Given the description of an element on the screen output the (x, y) to click on. 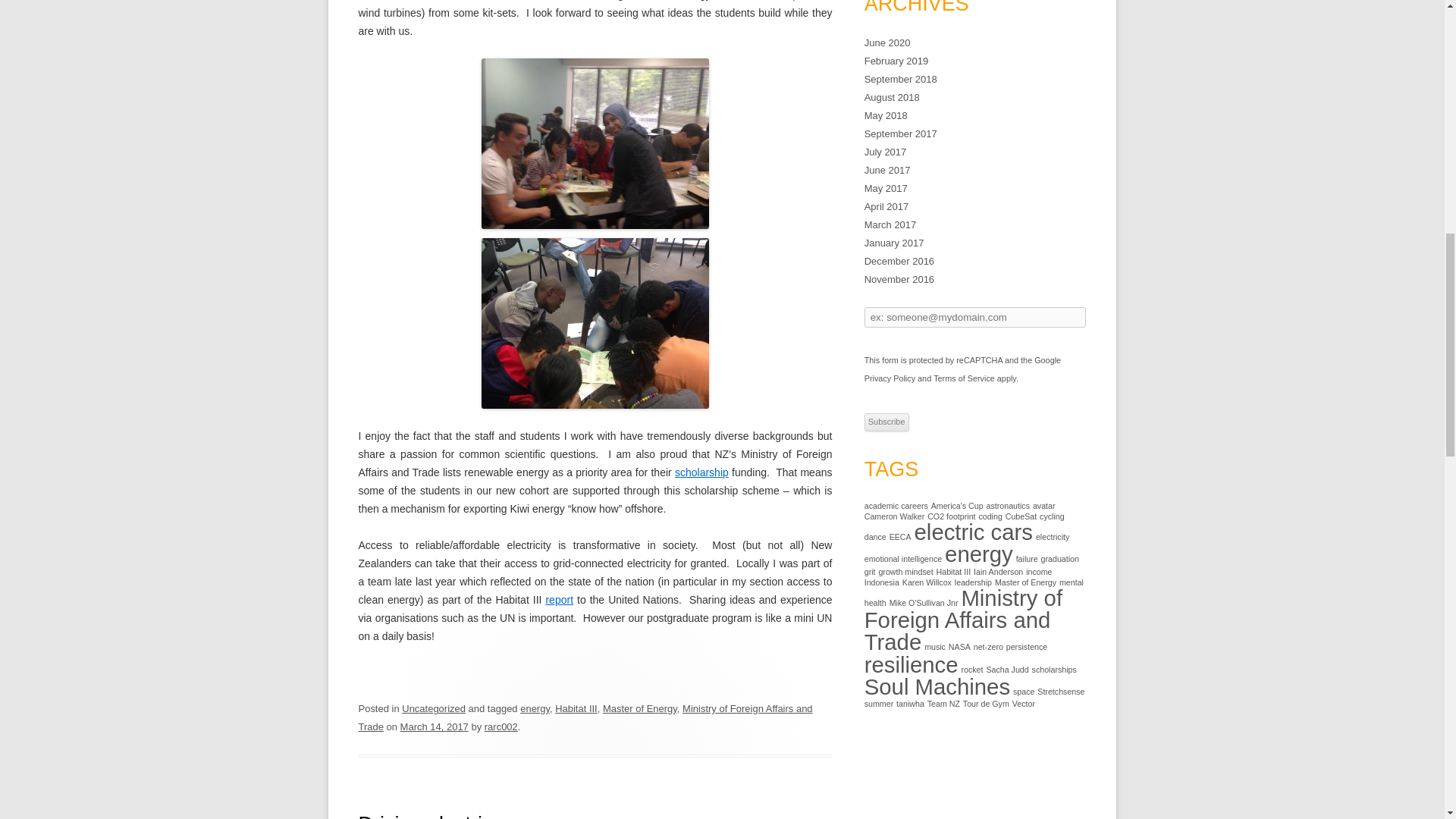
energy (534, 708)
Uncategorized (433, 708)
rarc002 (501, 726)
report (558, 599)
Master of Energy (639, 708)
March 14, 2017 (434, 726)
Driving electric (425, 816)
Subscribe (886, 422)
Ministry of Foreign Affairs and Trade (585, 717)
8:26 am (434, 726)
